Given the description of an element on the screen output the (x, y) to click on. 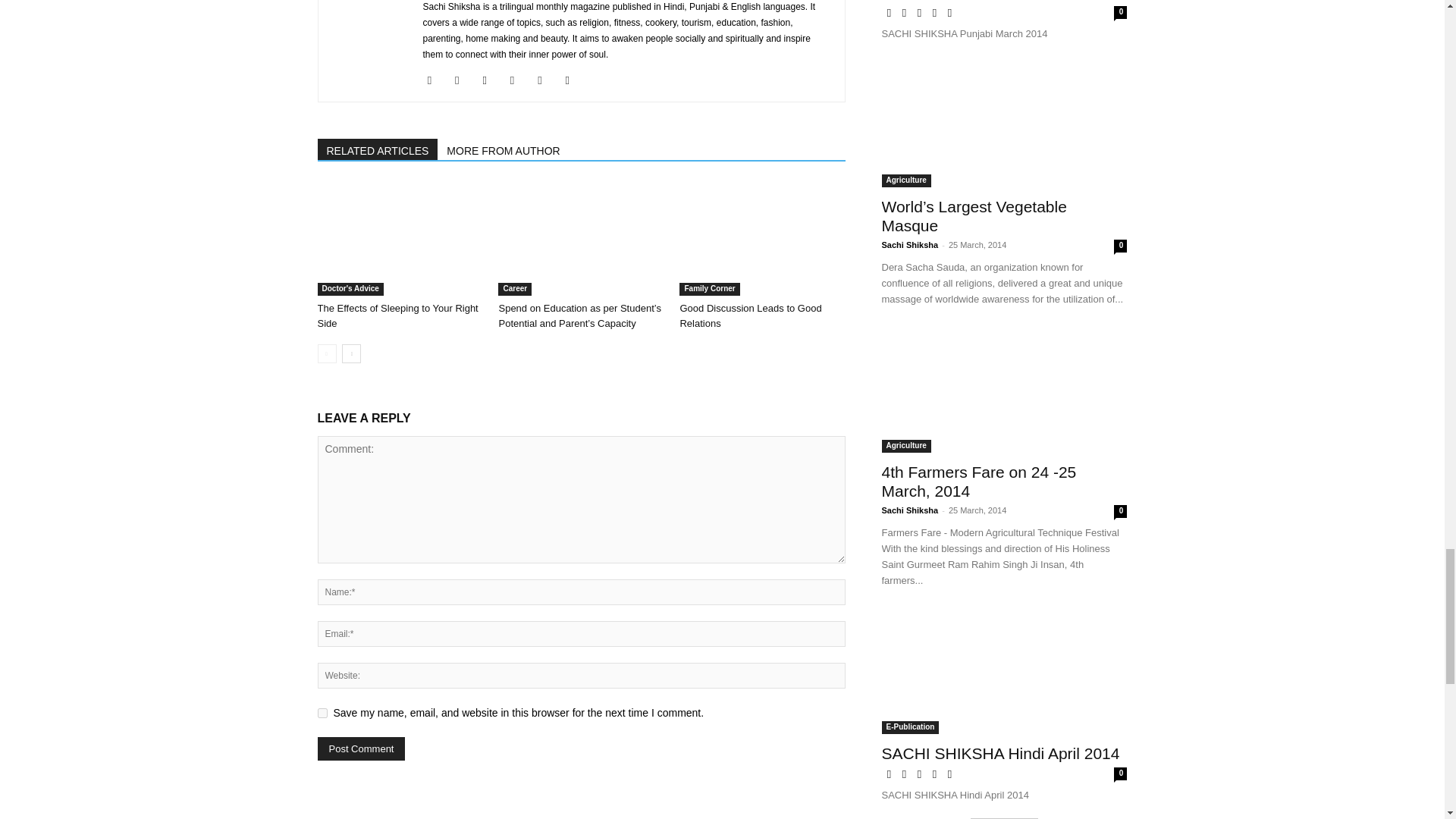
Post Comment (360, 748)
yes (321, 713)
